Given the description of an element on the screen output the (x, y) to click on. 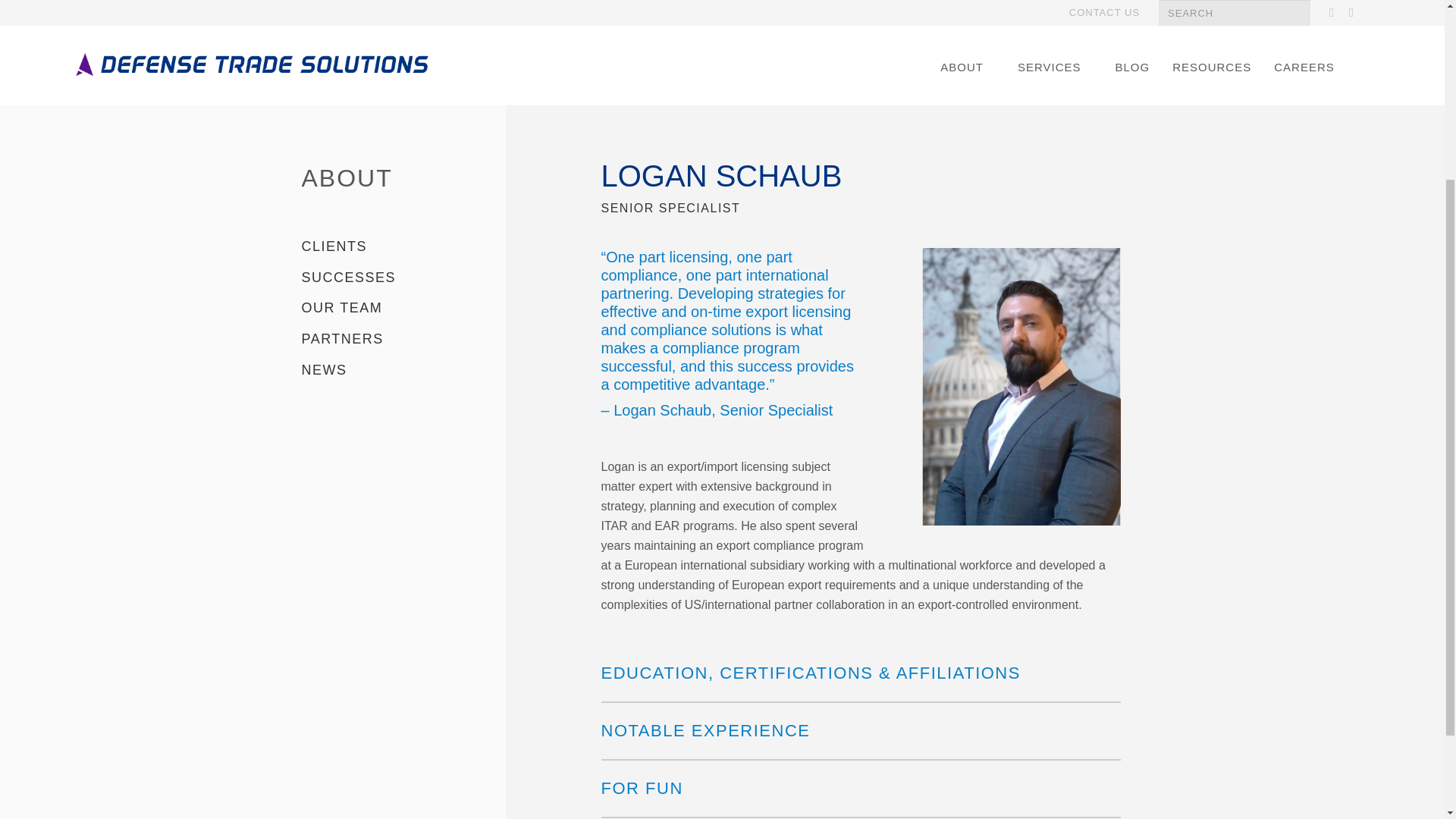
FOR FUN (640, 787)
NEWS (324, 369)
SUCCESSES (348, 277)
OUR TEAM (341, 307)
CLIENTS (334, 246)
NOTABLE EXPERIENCE (704, 730)
PARTNERS (342, 338)
ABOUT (347, 177)
